Given the description of an element on the screen output the (x, y) to click on. 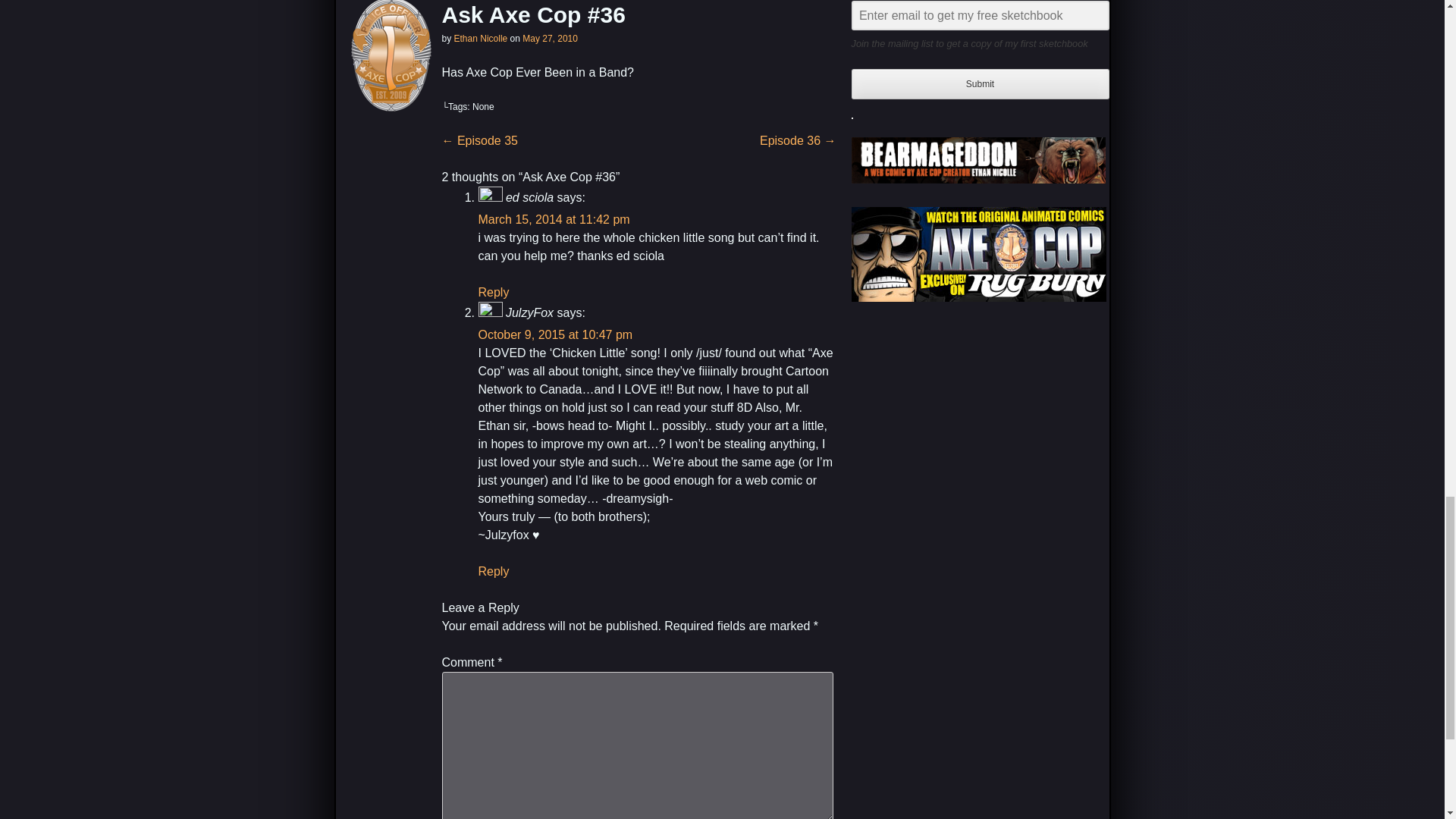
Submit (979, 83)
View all posts by Ethan Nicolle (481, 38)
12:00 am (550, 38)
October 9, 2015 at 10:47 pm (554, 334)
March 15, 2014 at 11:42 pm (552, 219)
Ethan Nicolle (481, 38)
Reply (492, 571)
Reply (492, 291)
May 27, 2010 (550, 38)
